Given the description of an element on the screen output the (x, y) to click on. 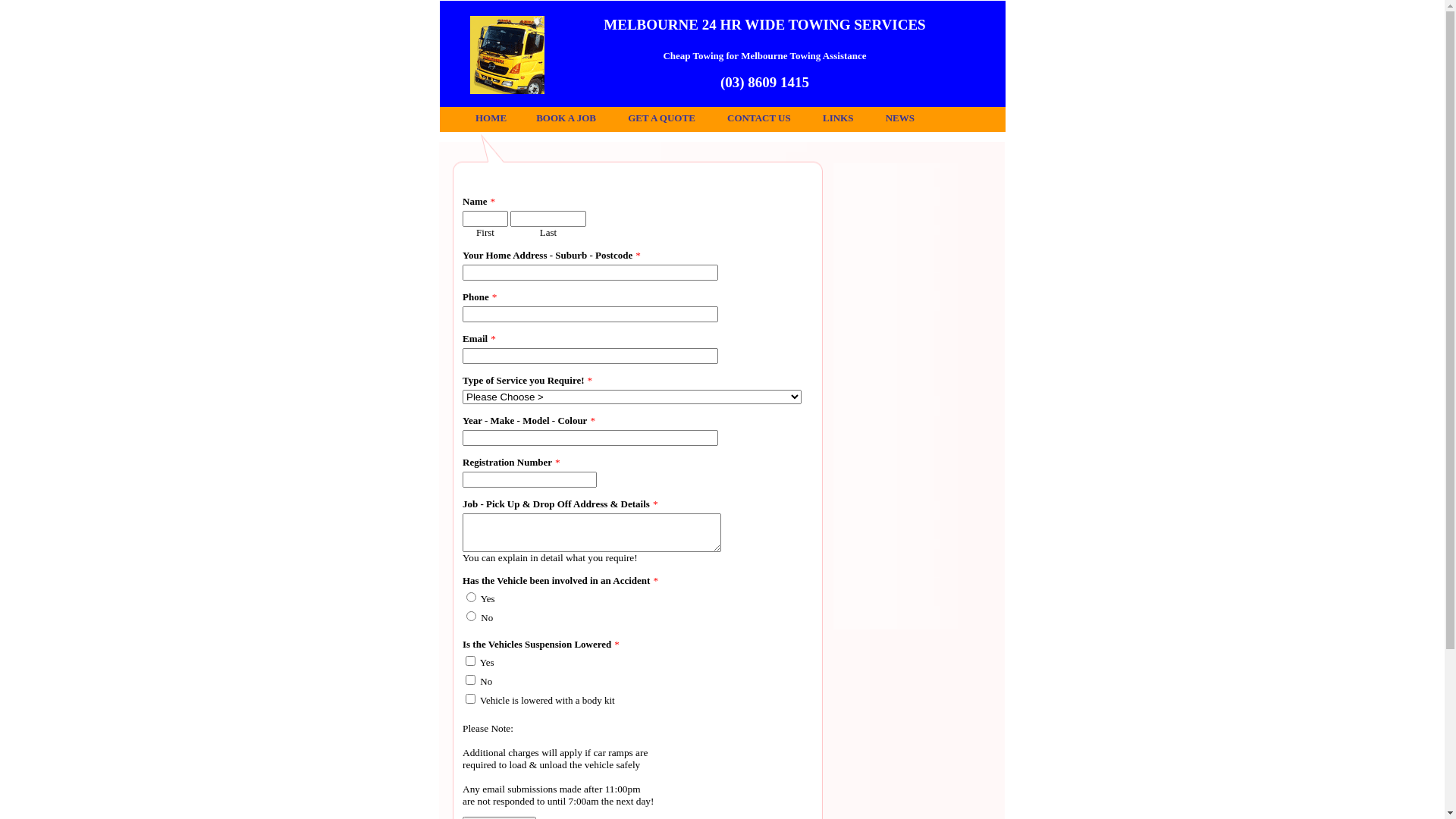
BOOK A JOB Element type: text (566, 117)
LINKS Element type: text (837, 117)
NEWS Element type: text (899, 117)
CONTACT US Element type: text (758, 117)
GET A QUOTE Element type: text (661, 117)
HOME Element type: text (490, 117)
